Given the description of an element on the screen output the (x, y) to click on. 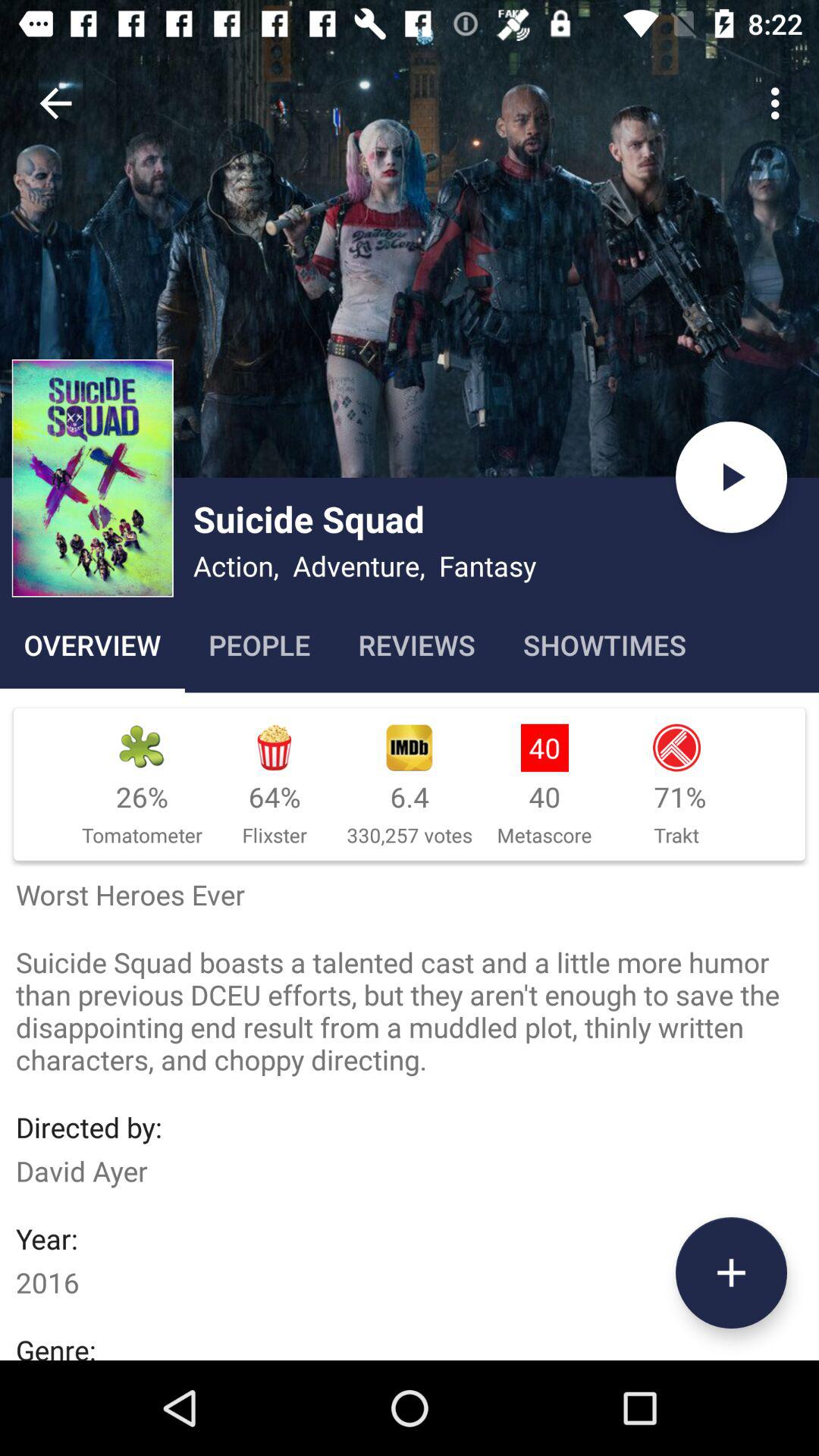
click on the icon which is above 64 (409, 747)
